Given the description of an element on the screen output the (x, y) to click on. 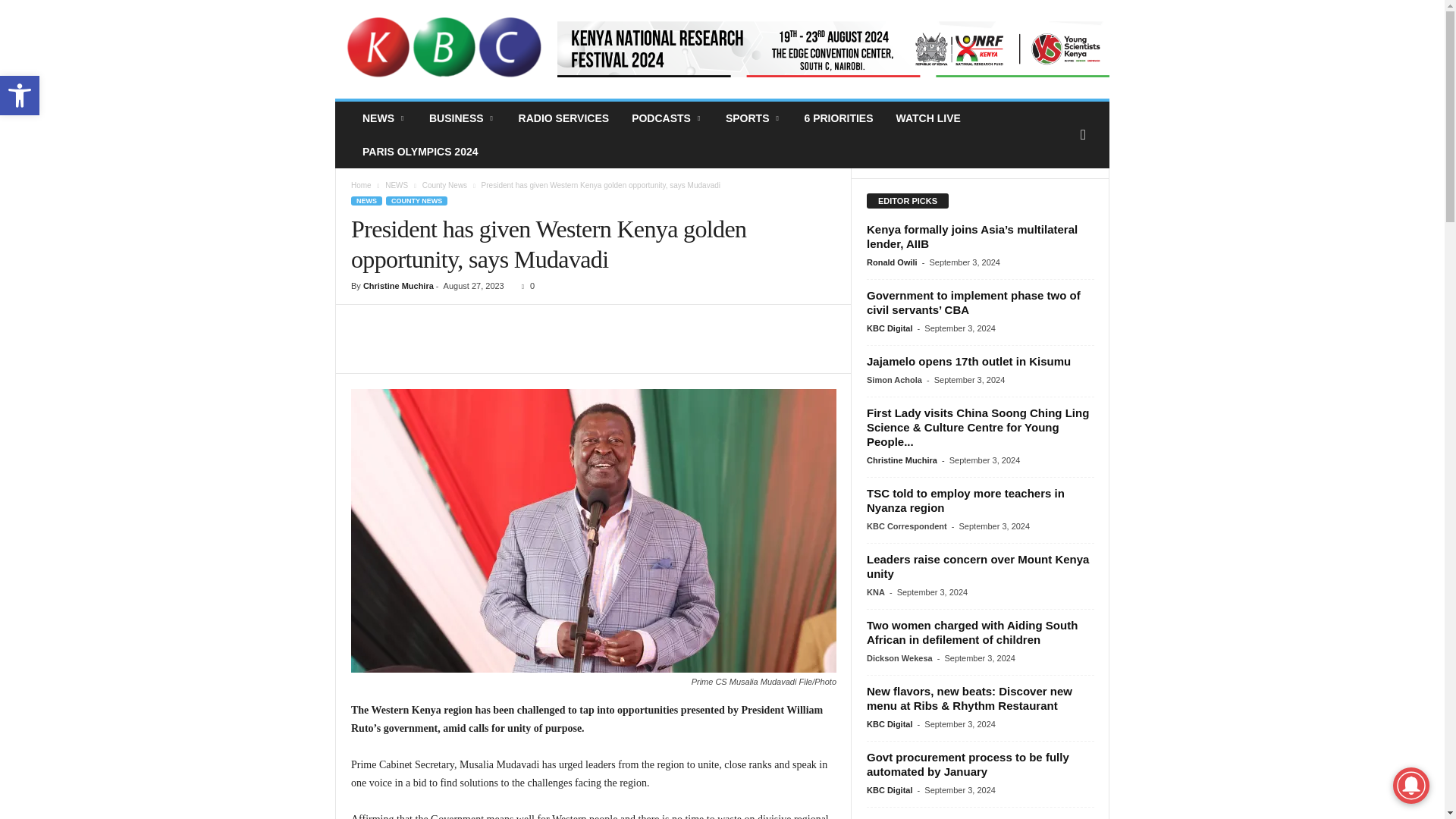
Accessibility Tools (19, 95)
Accessibility Tools (19, 95)
